Given the description of an element on the screen output the (x, y) to click on. 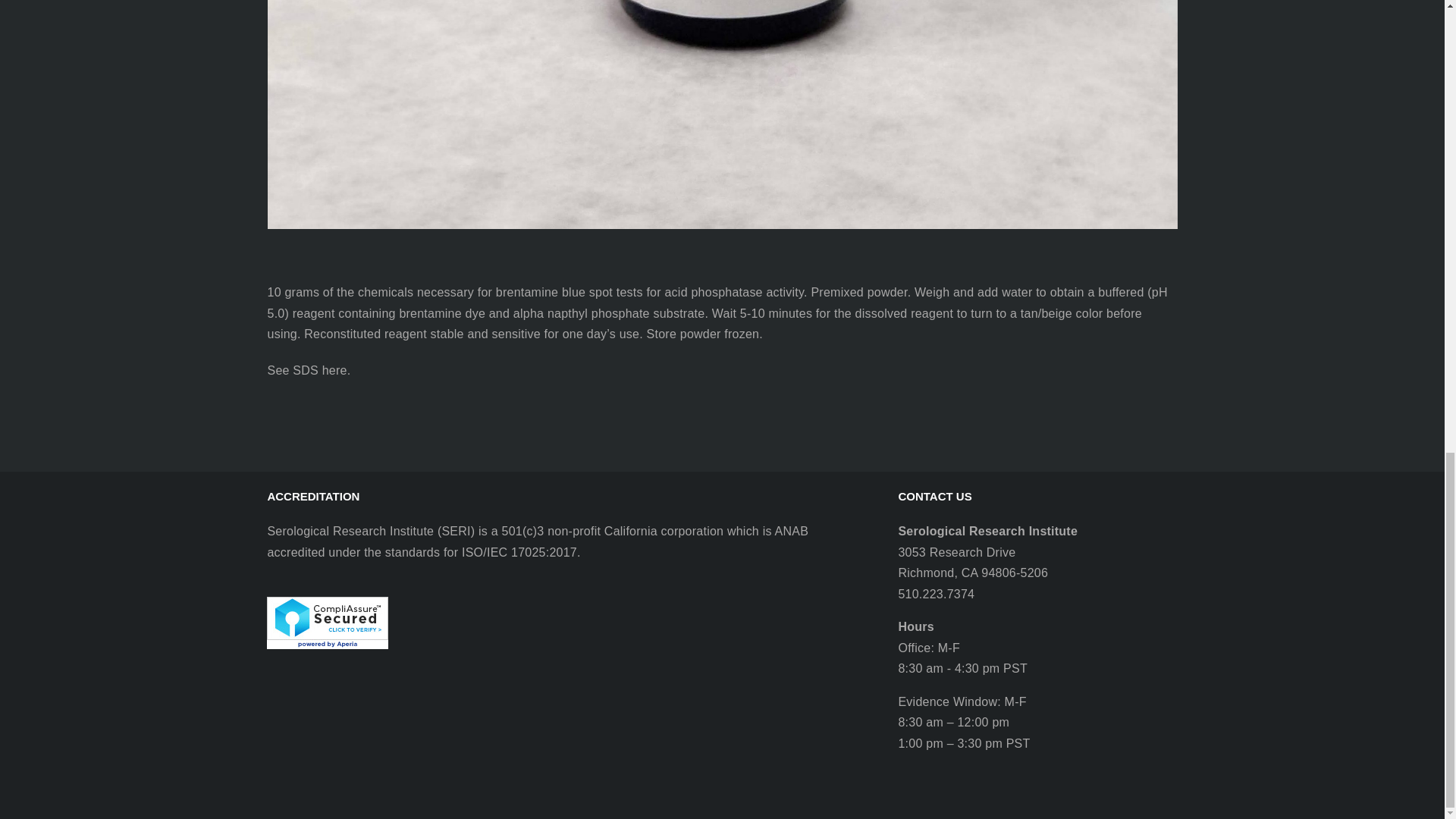
See SDS here (306, 369)
